Given the description of an element on the screen output the (x, y) to click on. 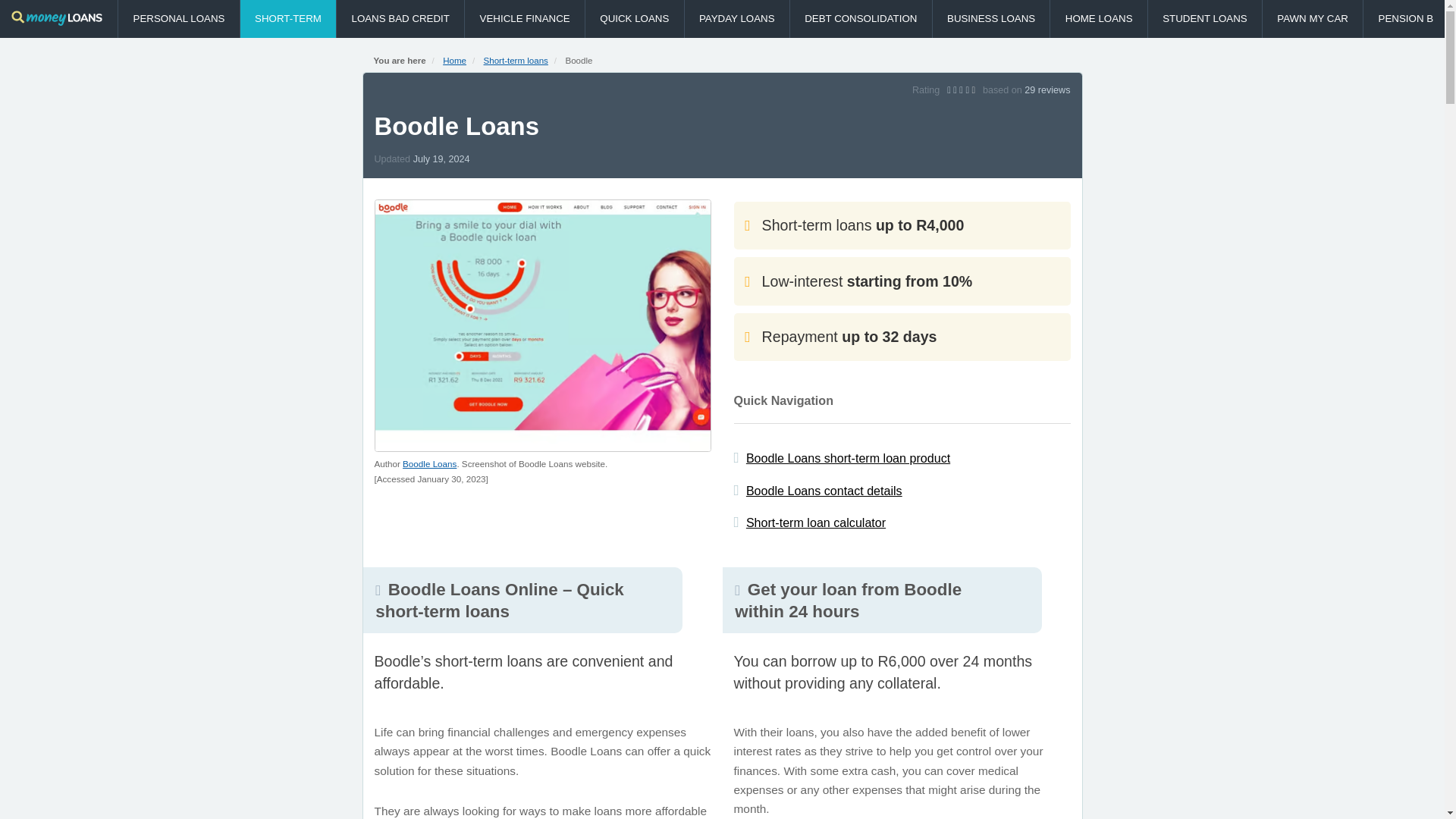
Pawn my Car and Still drive it (1312, 18)
Short-term loans (288, 18)
Home loans in South Africa (1098, 18)
Business loans (991, 18)
Home (453, 60)
Boodle Loans (430, 463)
Short-term loans (515, 60)
Payday loans (736, 18)
Loans blacklisted (400, 18)
PAYDAY LOANS (736, 18)
